Given the description of an element on the screen output the (x, y) to click on. 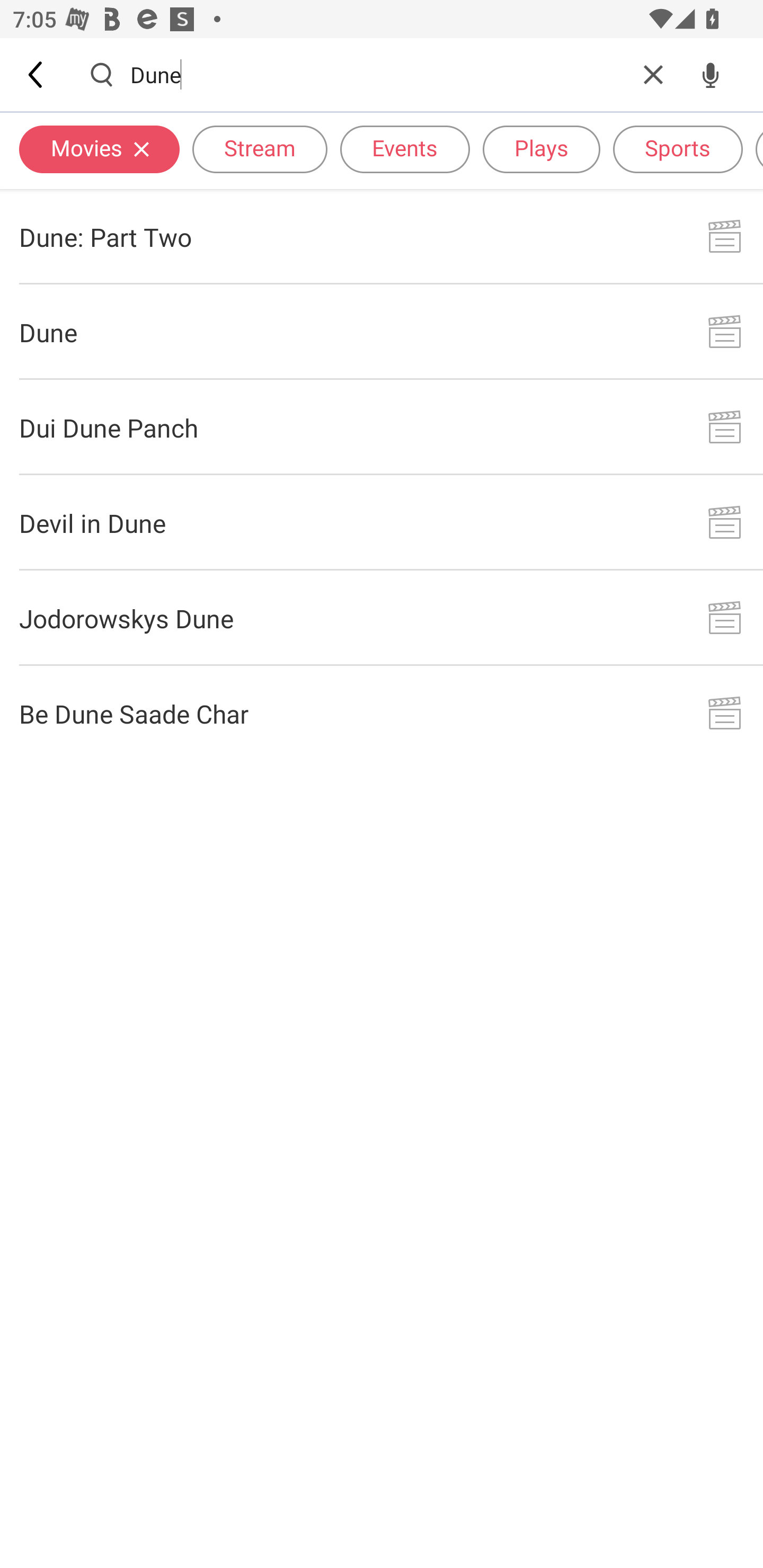
Back (36, 74)
Dune (377, 74)
Clear (653, 74)
Movies Clear (99, 148)
Stream (259, 148)
Events (405, 148)
Plays (541, 148)
Sports (677, 148)
Dune: Part Two (381, 236)
Dune (381, 331)
Dui Dune Panch (381, 427)
Devil in Dune (381, 522)
Jodorowskys Dune (381, 618)
Be Dune Saade Char (381, 713)
